Given the description of an element on the screen output the (x, y) to click on. 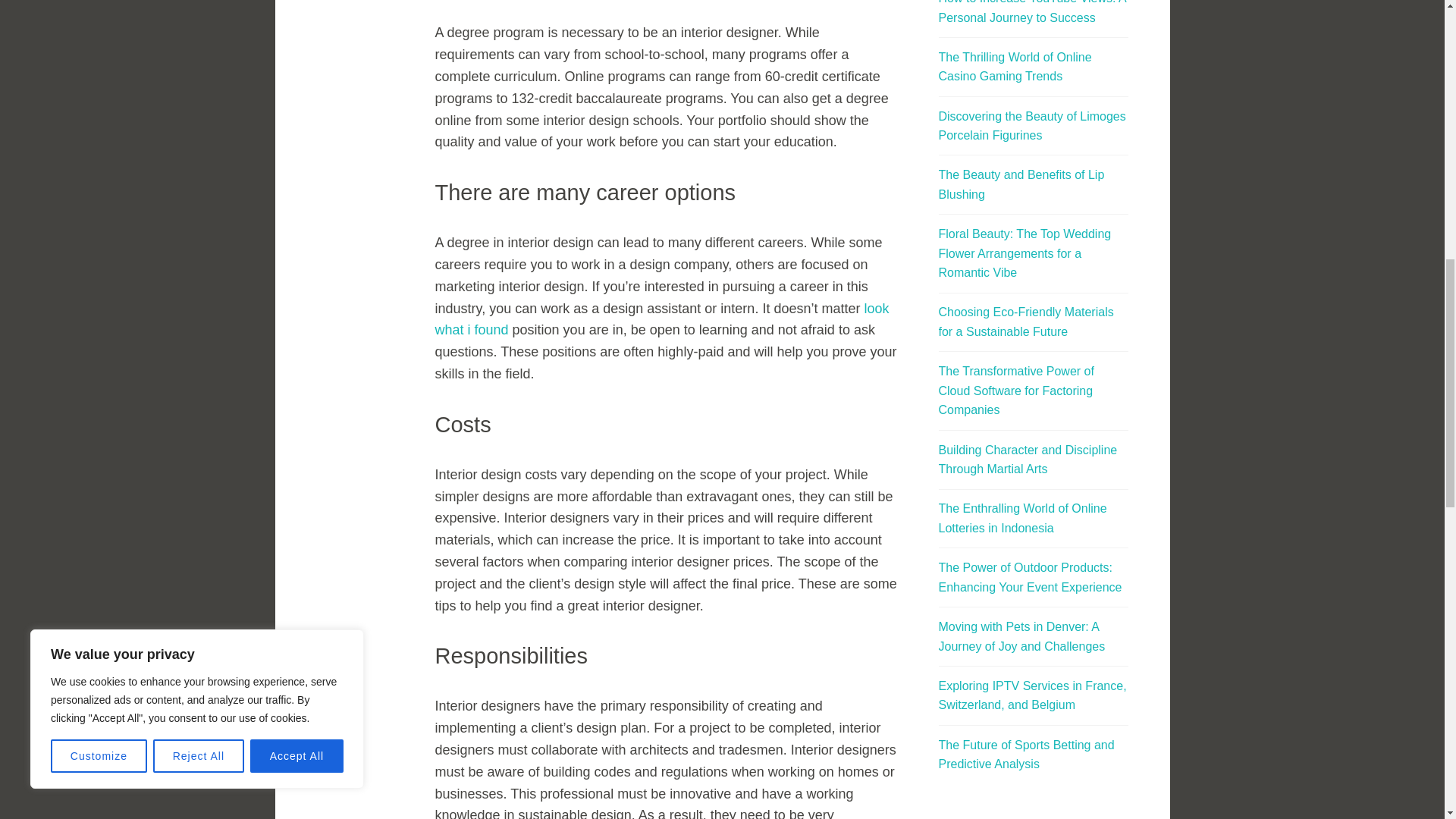
look what i found (662, 319)
